Given the description of an element on the screen output the (x, y) to click on. 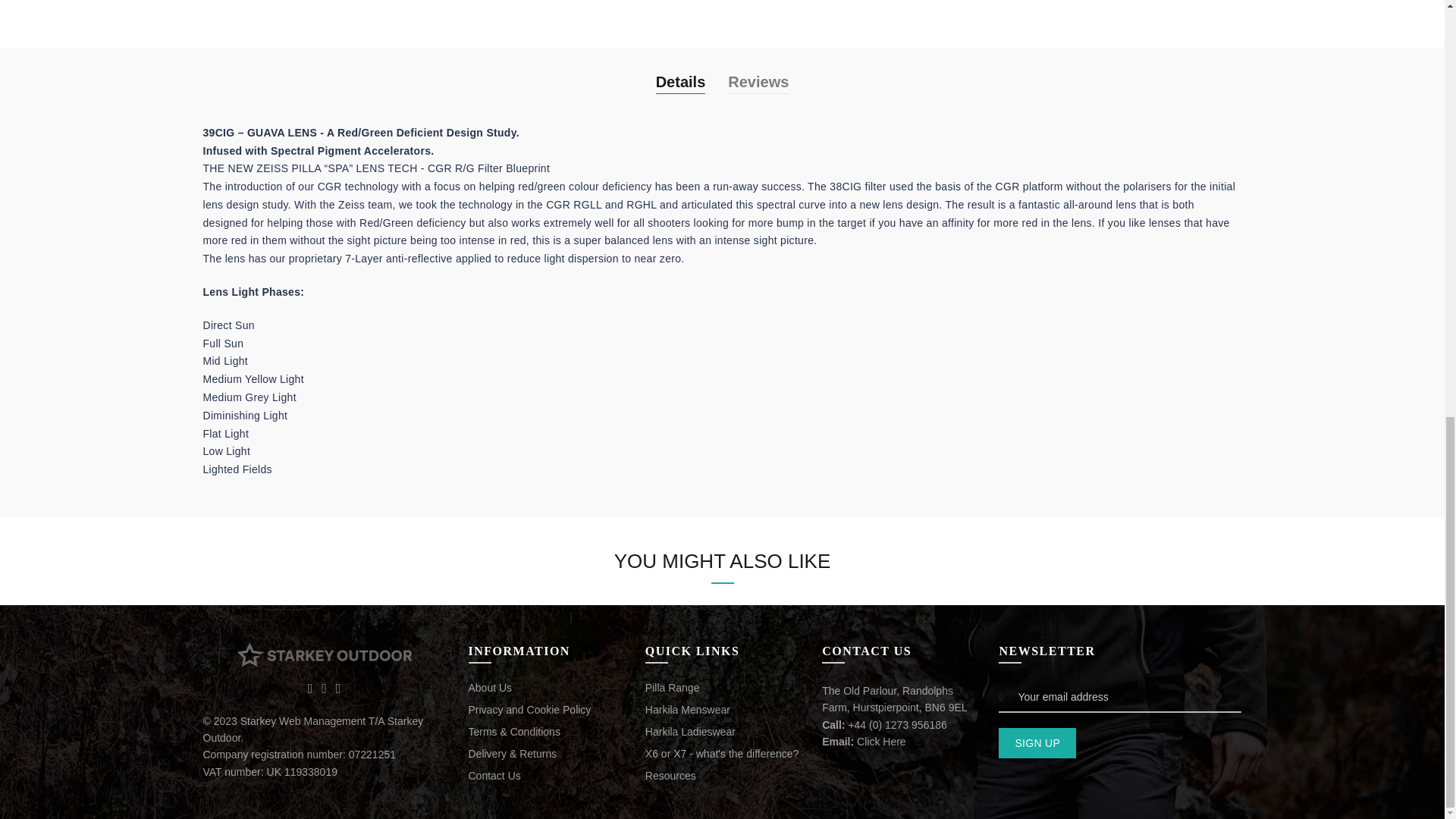
Sign up (1036, 743)
Starkey Outdoor (322, 654)
